Given the description of an element on the screen output the (x, y) to click on. 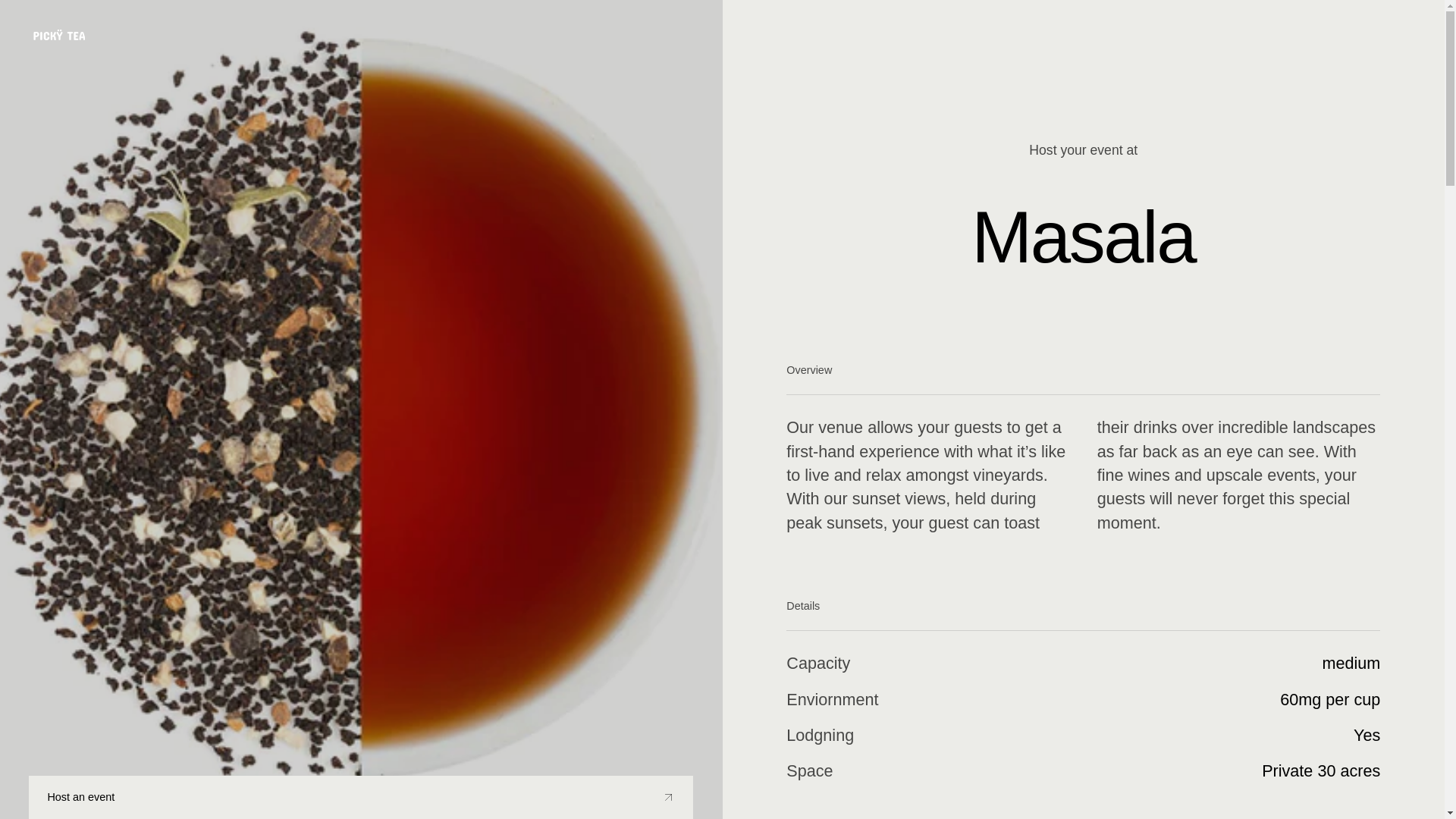
Host an event (361, 797)
